Given the description of an element on the screen output the (x, y) to click on. 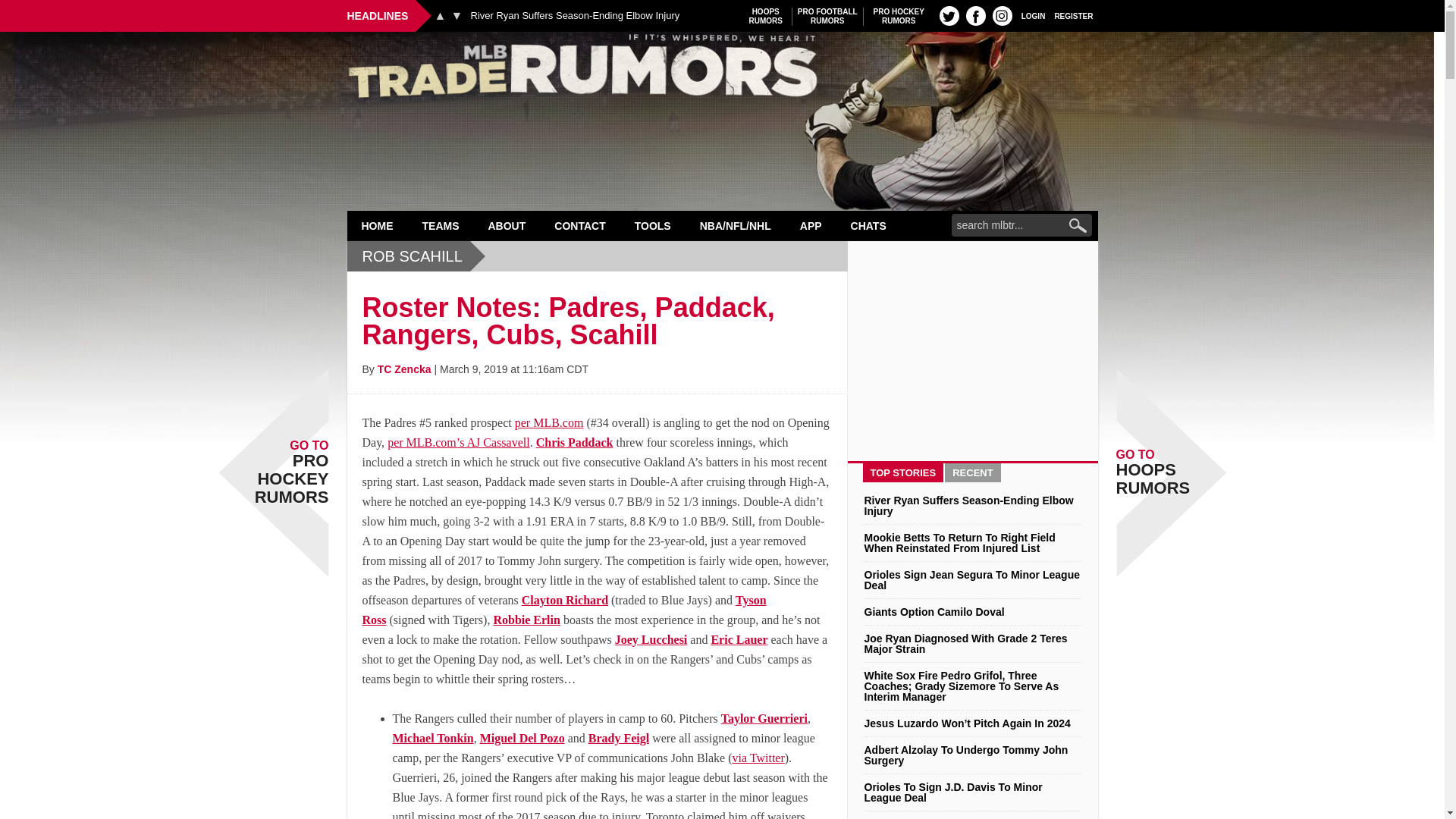
REGISTER (1073, 15)
Twitter profile (949, 15)
FB profile (975, 15)
Previous (898, 16)
River Ryan Suffers Season-Ending Elbow Injury (765, 16)
Search (439, 15)
TEAMS (574, 15)
